Given the description of an element on the screen output the (x, y) to click on. 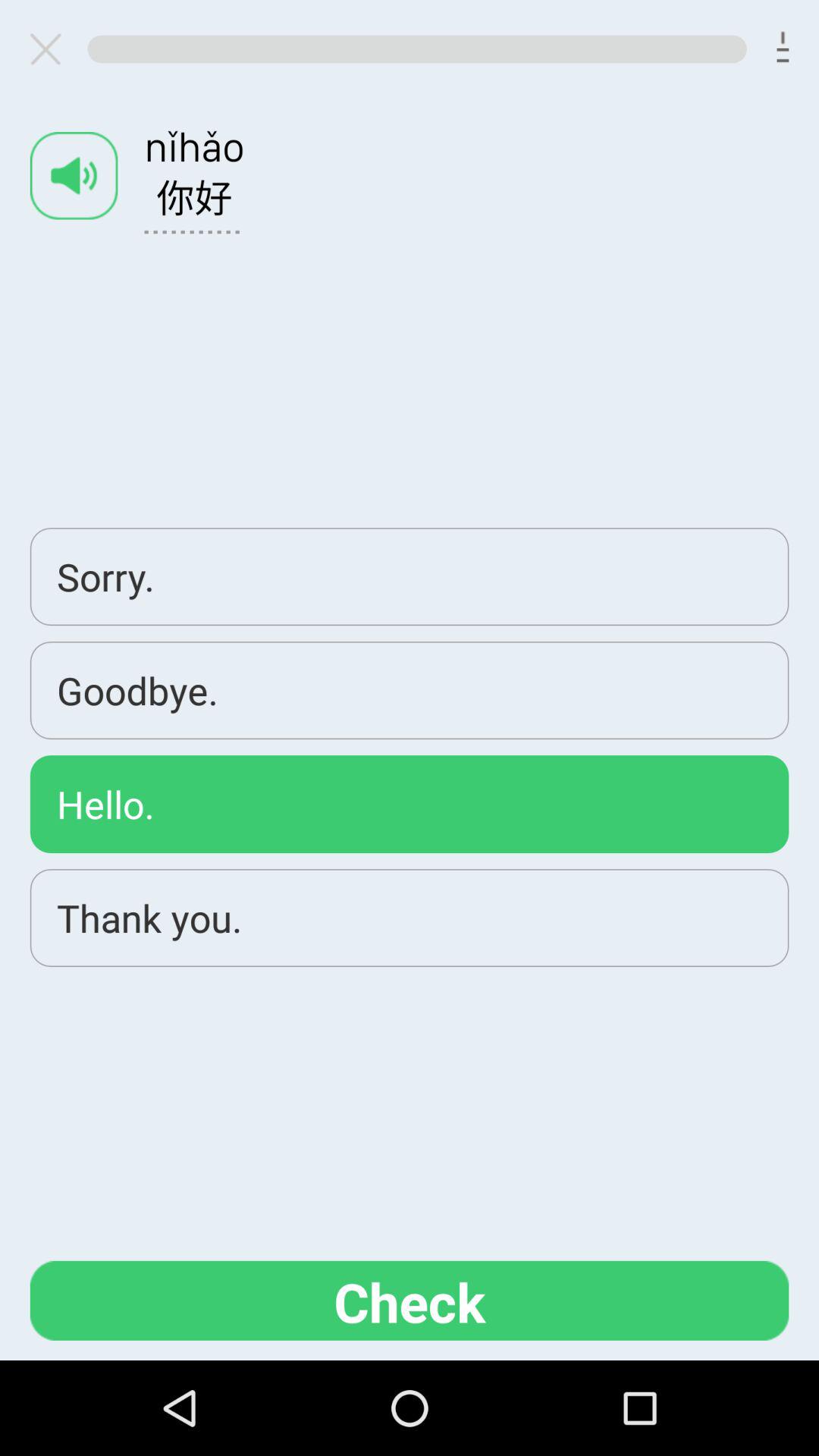
closes area (51, 49)
